Given the description of an element on the screen output the (x, y) to click on. 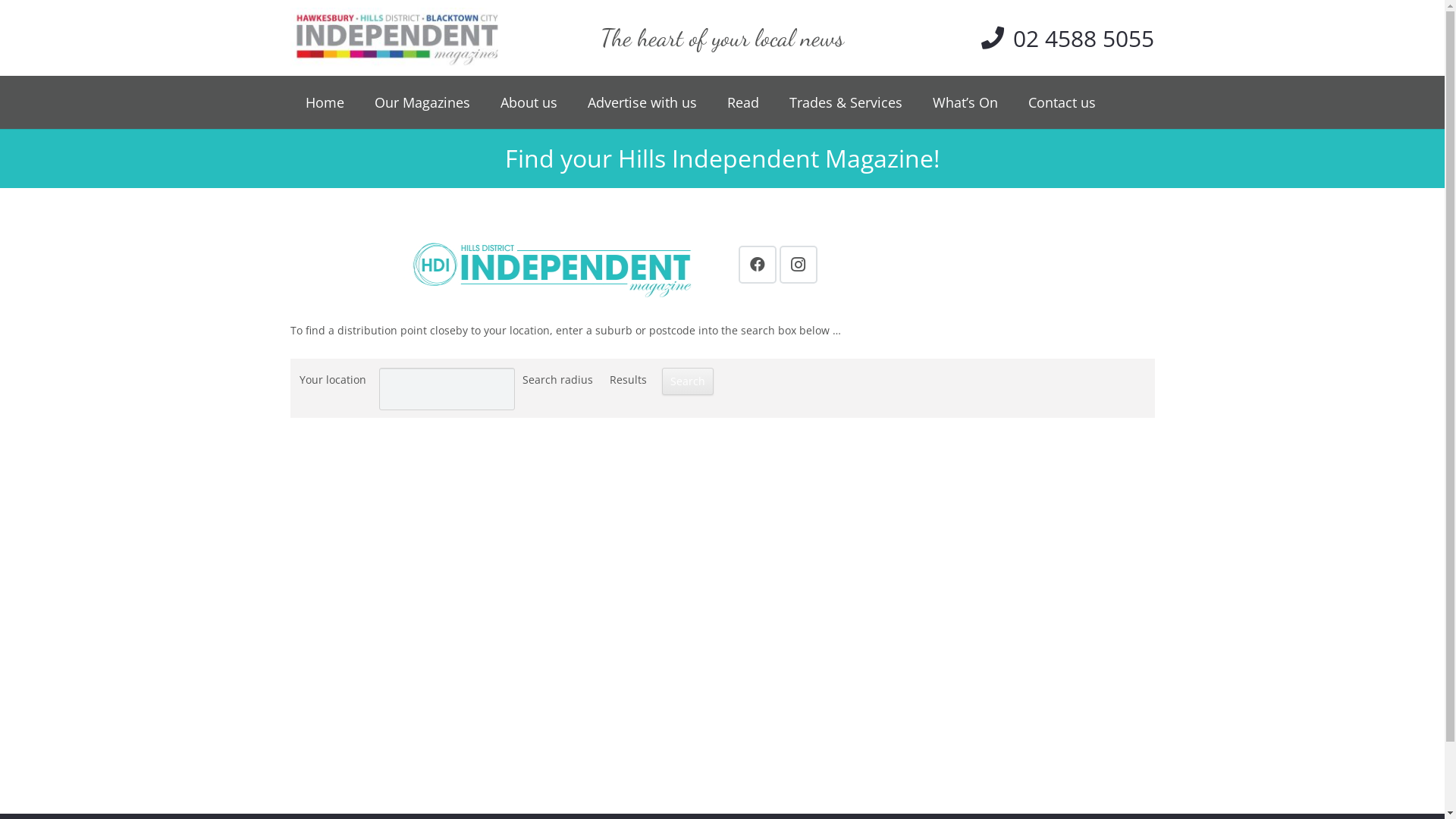
Trades & Services Element type: text (844, 101)
Search Element type: text (686, 381)
Advertise with us Element type: text (641, 101)
Read Element type: text (742, 101)
About us Element type: text (528, 101)
Instagram Element type: hover (798, 264)
Home Element type: text (323, 101)
Our Magazines Element type: text (422, 101)
02 4588 5055 Element type: text (1067, 37)
Contact us Element type: text (1061, 101)
Facebook Element type: hover (757, 264)
